Given the description of an element on the screen output the (x, y) to click on. 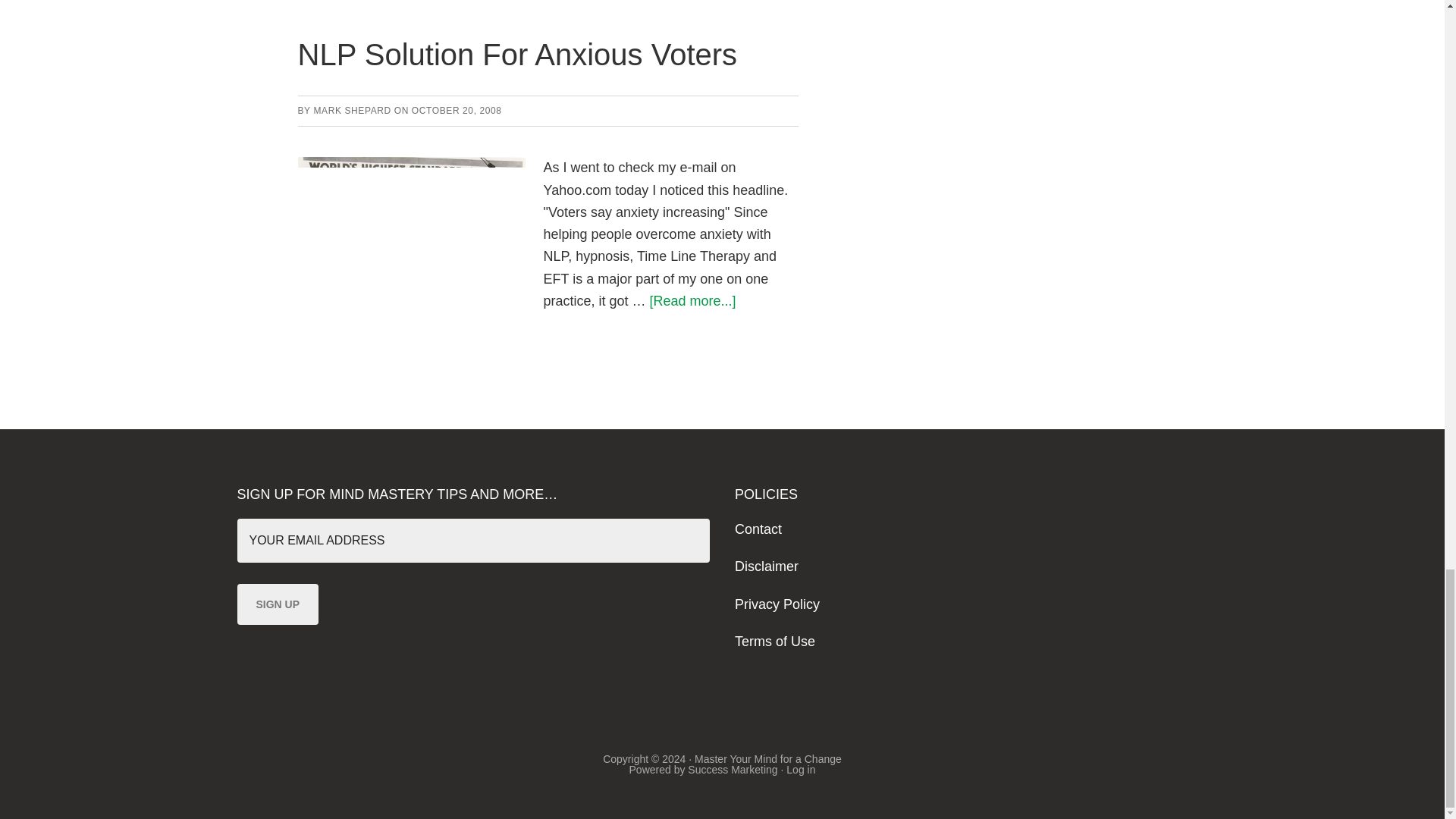
MARK SHEPARD (351, 110)
Sign up (276, 603)
NLP Solution For Anxious Voters (516, 54)
